Given the description of an element on the screen output the (x, y) to click on. 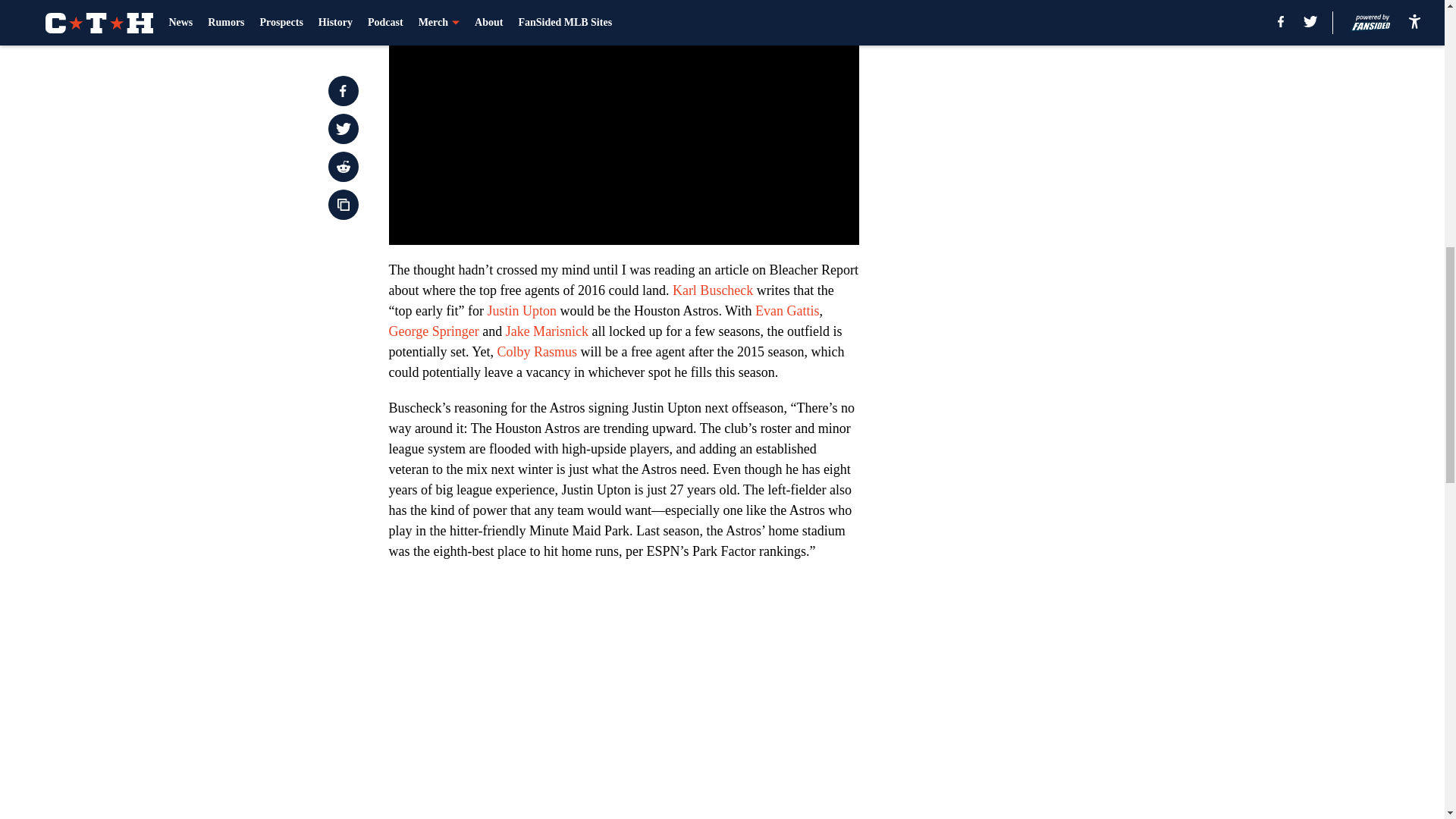
George Springer (433, 331)
Karl Buscheck (712, 290)
Jake Marisnick (546, 331)
Evan Gattis (786, 310)
Colby Rasmus (537, 351)
Justin Upton (521, 310)
